Given the description of an element on the screen output the (x, y) to click on. 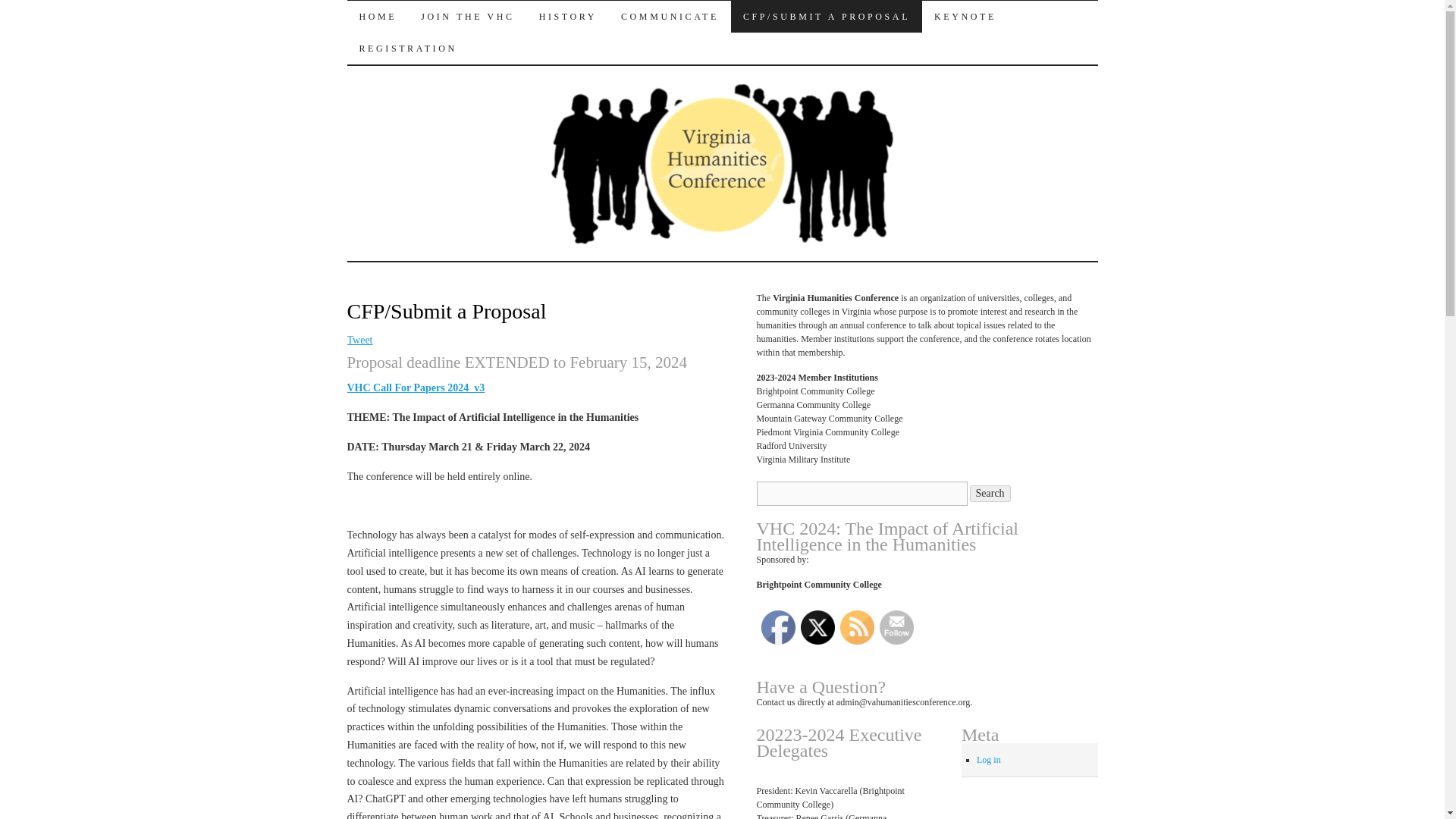
JOIN THE VHC (467, 16)
Virginia Humanities Conference (557, 26)
Facebook (777, 627)
Virginia Humanities Conference (557, 26)
COMMUNICATE (669, 16)
HOME (378, 16)
KEYNOTE (965, 16)
HISTORY (567, 16)
REGISTRATION (407, 48)
Tweet (359, 339)
Log in (988, 759)
RSS (857, 627)
Search (989, 493)
SKIP TO CONTENT (357, 47)
Twitter (817, 627)
